Given the description of an element on the screen output the (x, y) to click on. 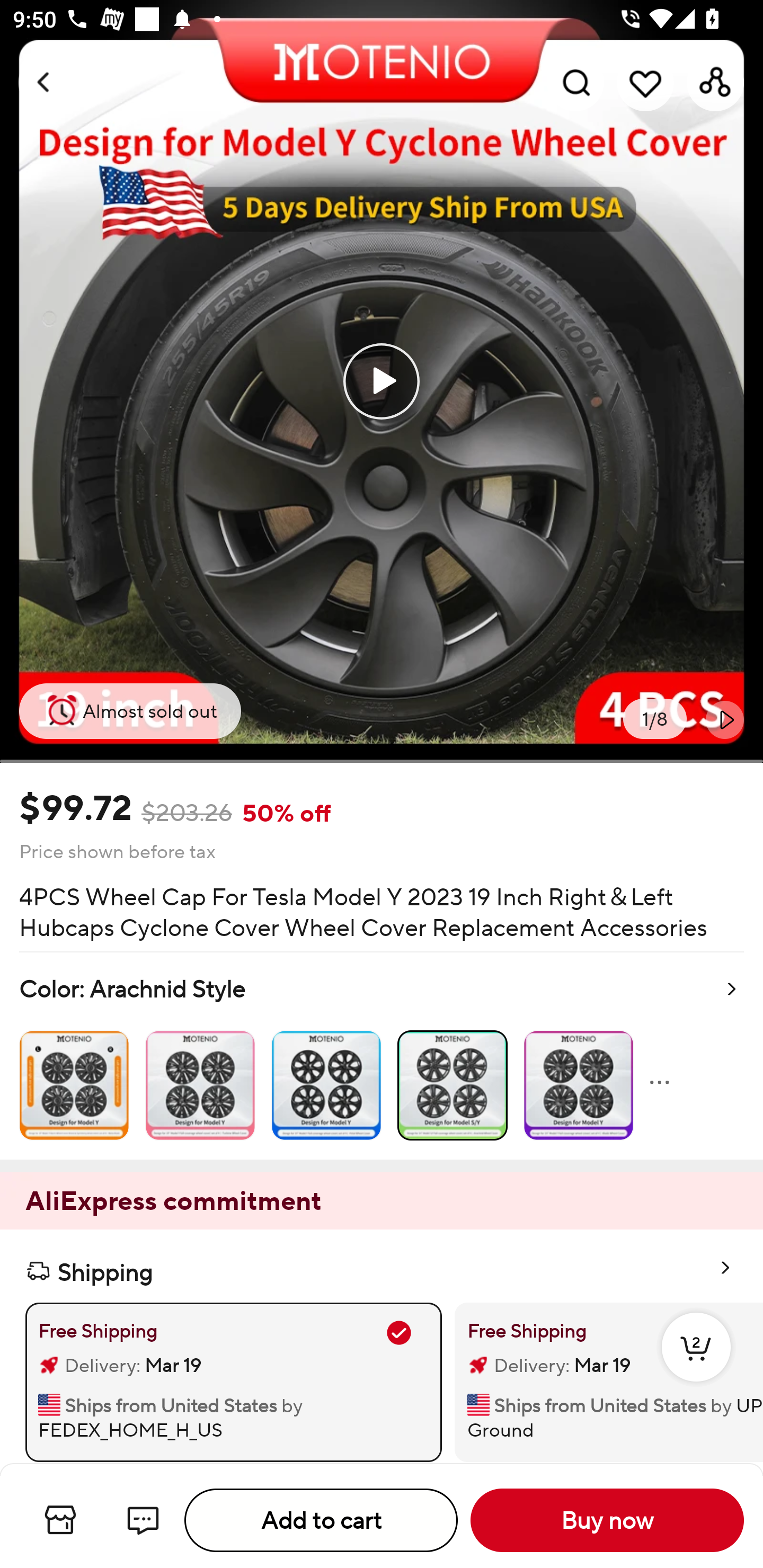
0.0 (381, 381)
Navigate up (44, 82)
 (724, 719)
Color: Arachnid Style  (381, 1055)
2 (695, 1366)
Add to cart (320, 1520)
Buy now (606, 1520)
